Given the description of an element on the screen output the (x, y) to click on. 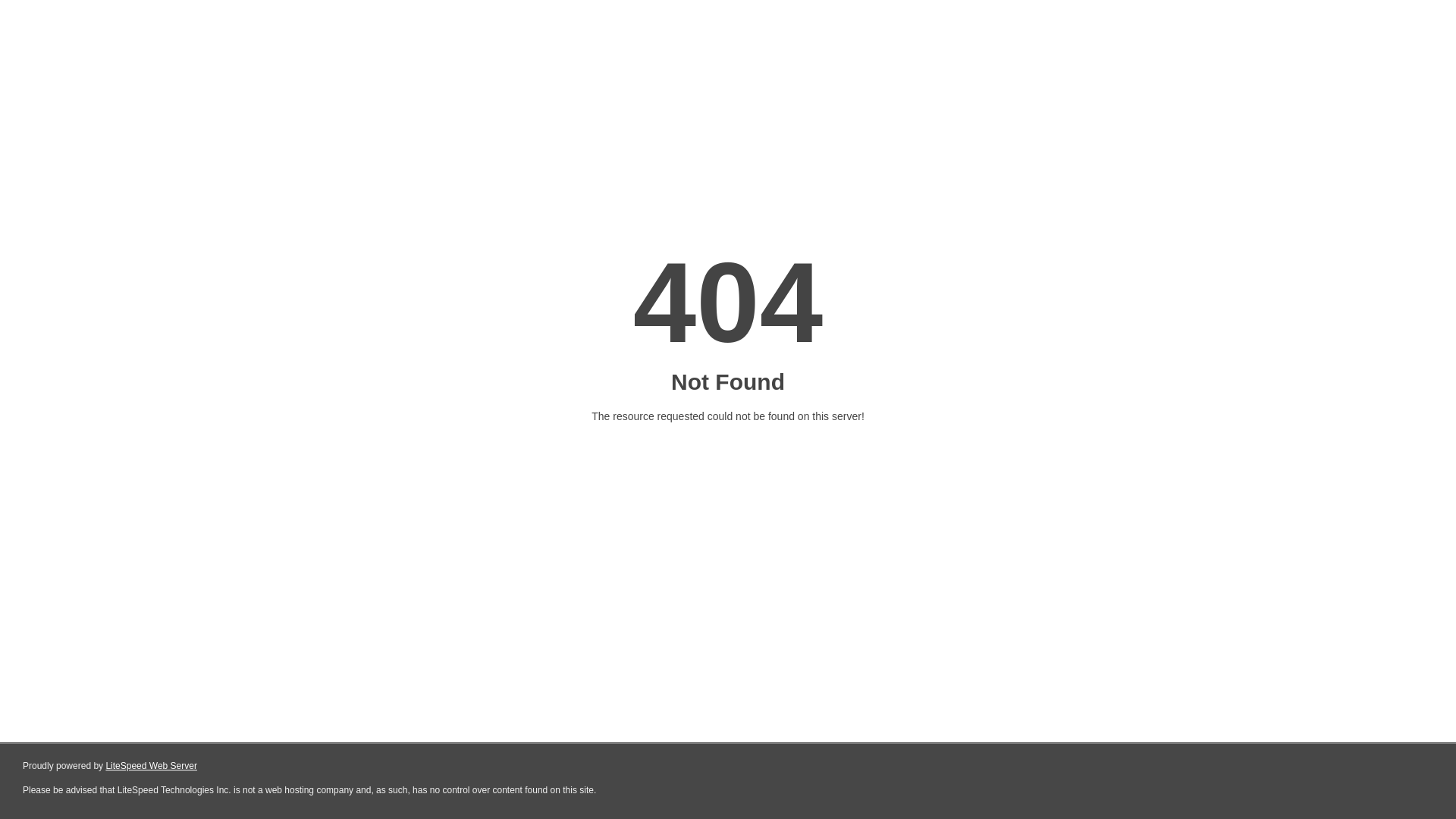
LiteSpeed Web Server Element type: text (151, 765)
